Given the description of an element on the screen output the (x, y) to click on. 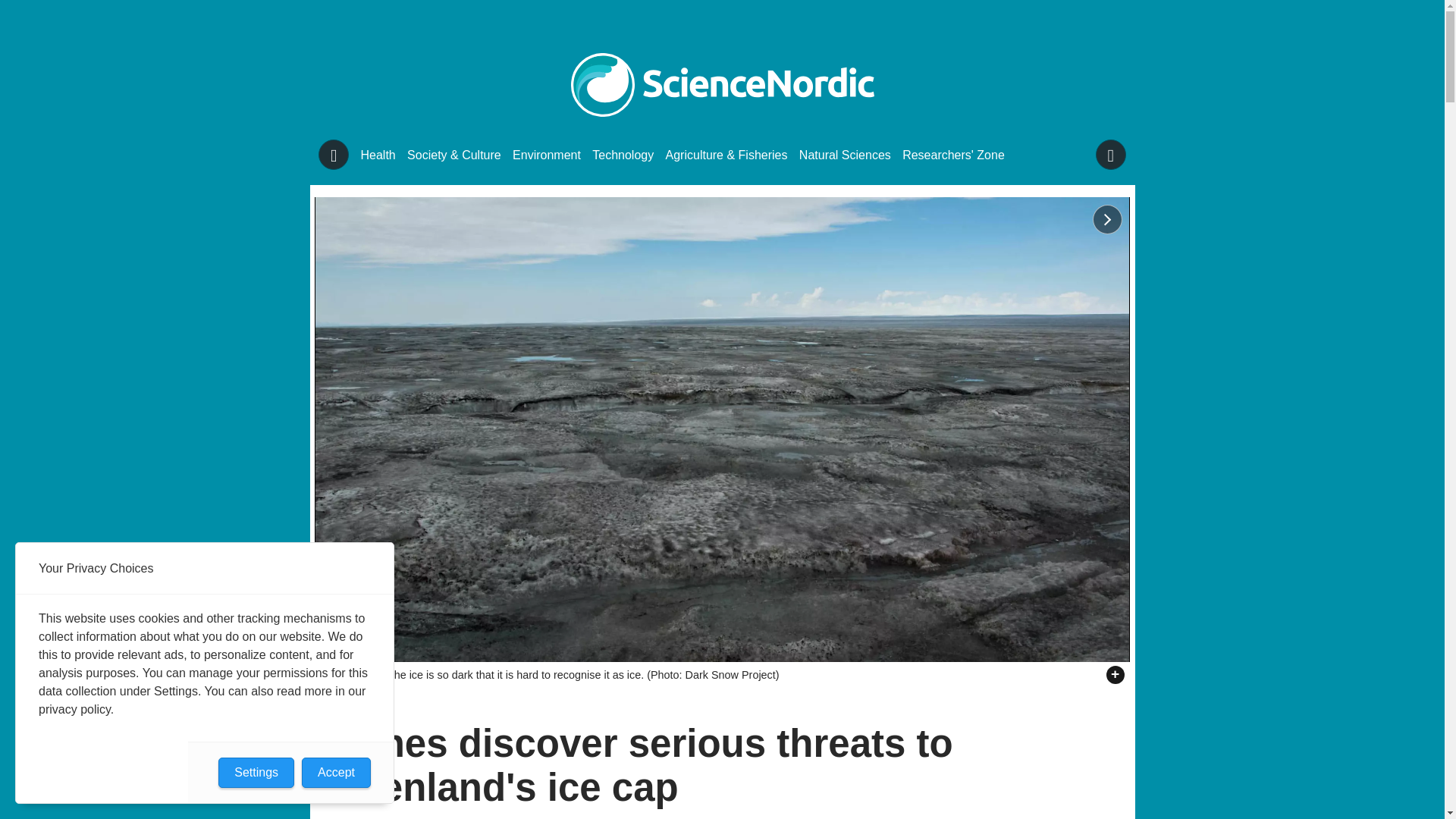
Researchers' Zone (953, 154)
Technology (622, 154)
Environment (546, 154)
Natural Sciences (845, 154)
Health (378, 154)
